Given the description of an element on the screen output the (x, y) to click on. 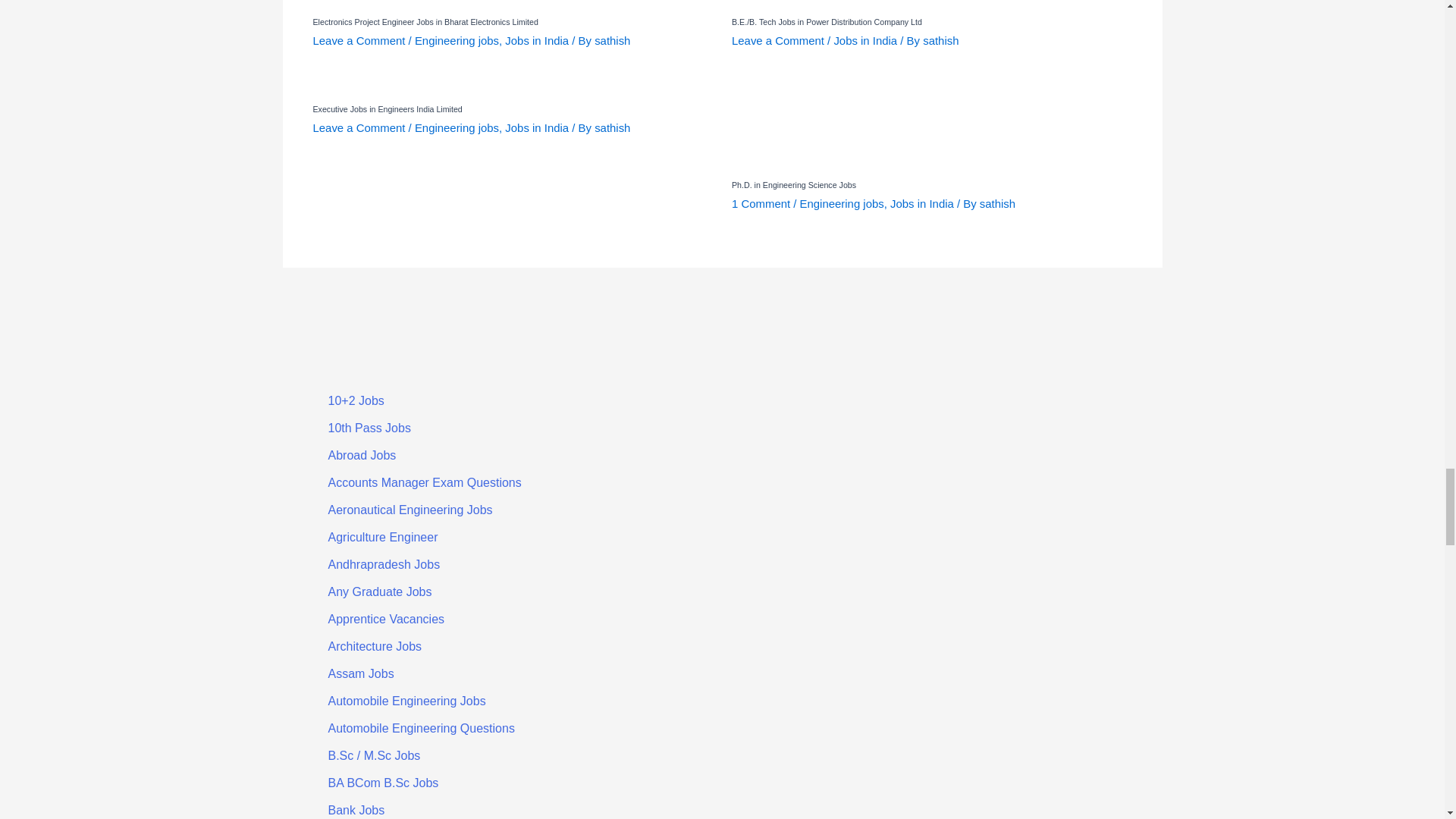
View all posts by sathish (612, 127)
View all posts by sathish (940, 40)
View all posts by sathish (612, 40)
Ph.D. in Engineering Science Jobs 2 (807, 130)
View all posts by sathish (996, 203)
